Given the description of an element on the screen output the (x, y) to click on. 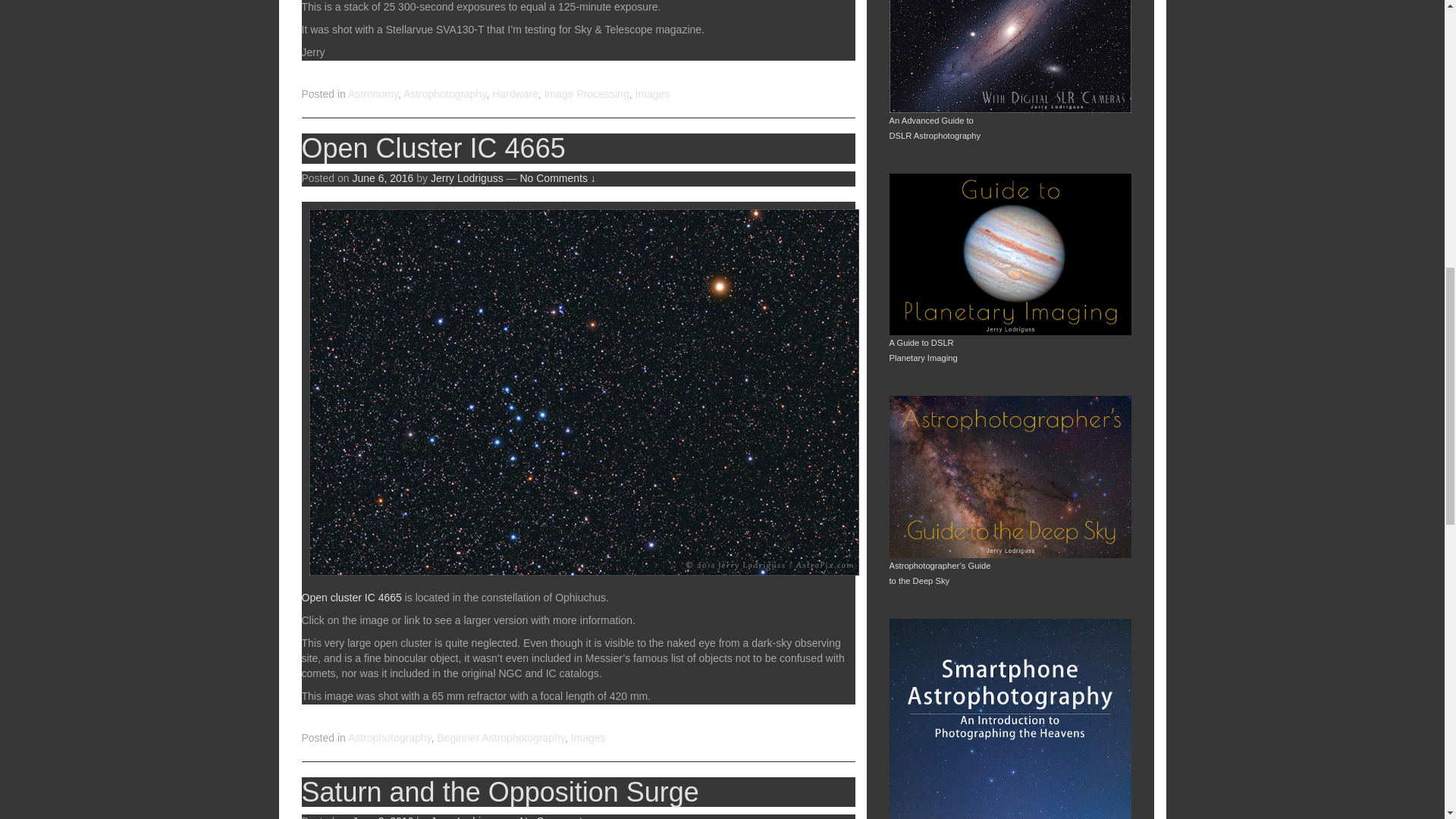
Open cluster IC 4665 (351, 597)
Images (651, 93)
View all posts by Jerry Lodriguss (466, 177)
Astrophotography (388, 737)
View all posts by Jerry Lodriguss (466, 816)
Jerry Lodriguss (466, 816)
June 2, 2016 (382, 816)
Hardware (515, 93)
12:00 am (382, 177)
Open Cluster IC 4665 (433, 147)
Astronomy (372, 93)
June 6, 2016 (382, 177)
Image Processing (586, 93)
2:27 am (382, 816)
Astrophotography (444, 93)
